Given the description of an element on the screen output the (x, y) to click on. 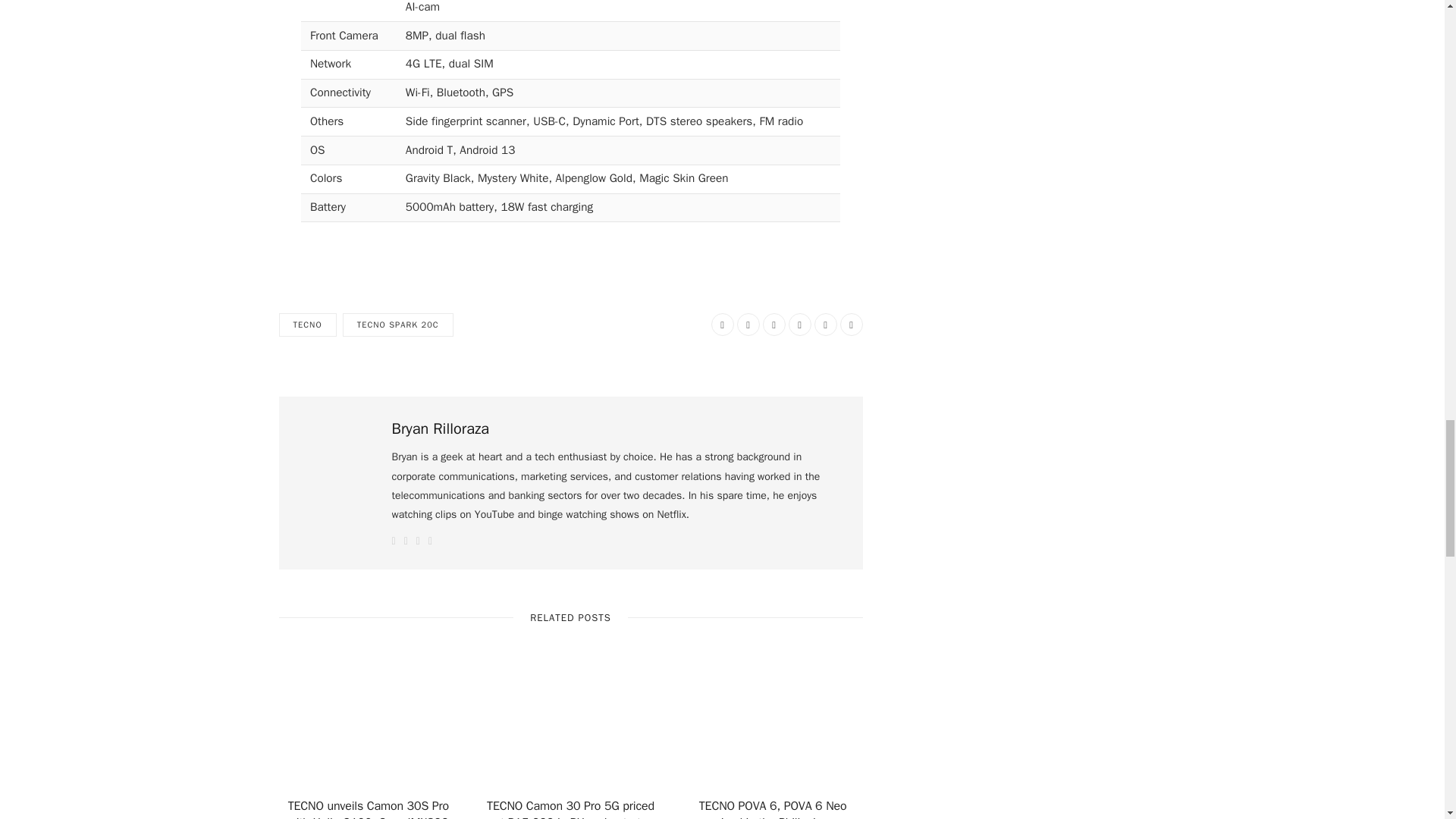
LinkedIn (825, 323)
Pinterest (799, 323)
Email (851, 323)
TECNO (307, 324)
TECNO POVA 6, POVA 6 Neo priced in the Philippines (772, 726)
Twitter (748, 323)
Bryan Rilloraza (440, 428)
Facebook (722, 323)
